Given the description of an element on the screen output the (x, y) to click on. 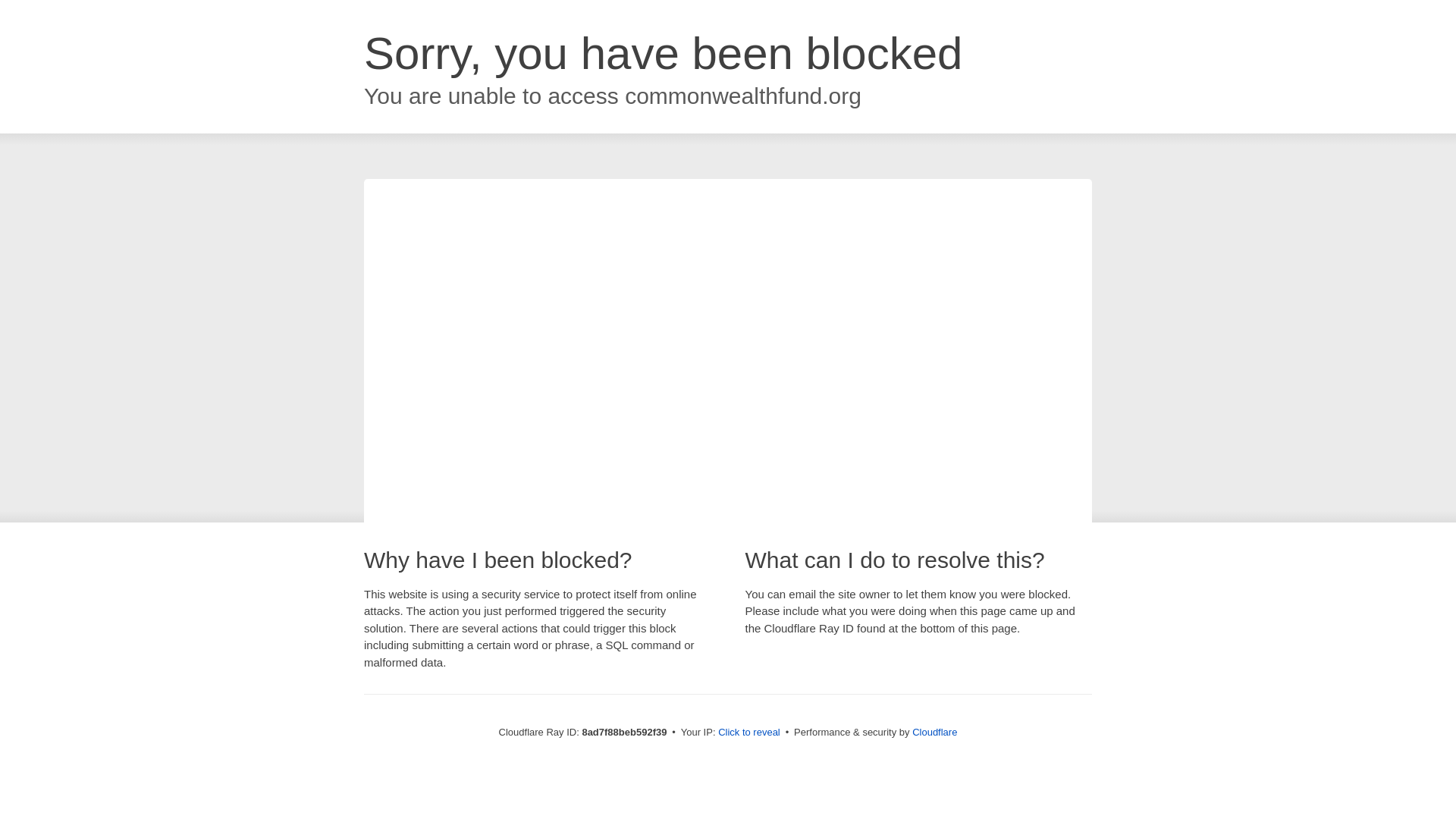
Cloudflare (934, 731)
Click to reveal (748, 732)
